Given the description of an element on the screen output the (x, y) to click on. 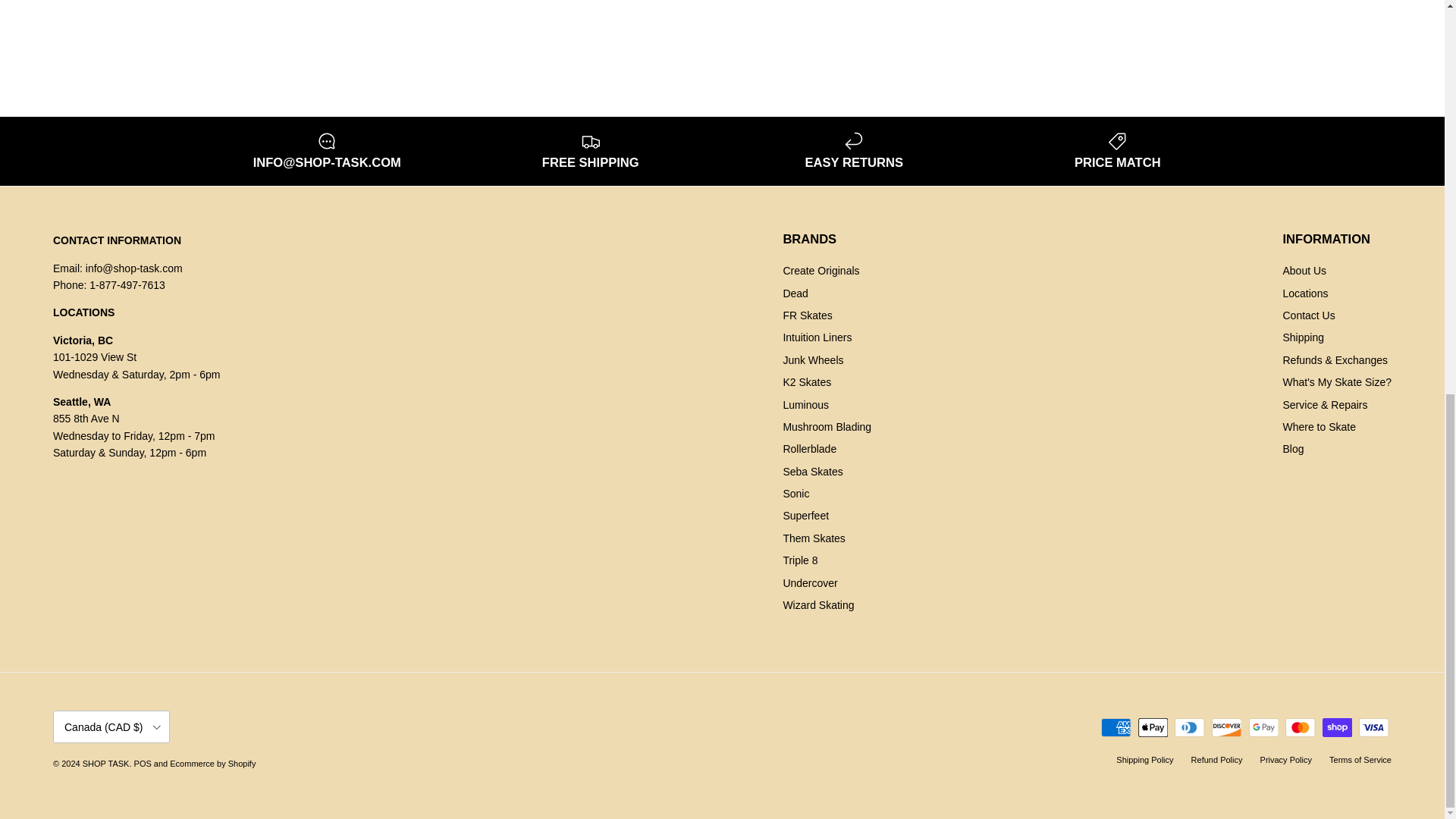
Apple Pay (1152, 727)
Google Pay (1262, 727)
Visa (1373, 727)
American Express (1115, 727)
Shop Pay (1337, 727)
Discover (1226, 727)
Diners Club (1189, 727)
Mastercard (1299, 727)
